Given the description of an element on the screen output the (x, y) to click on. 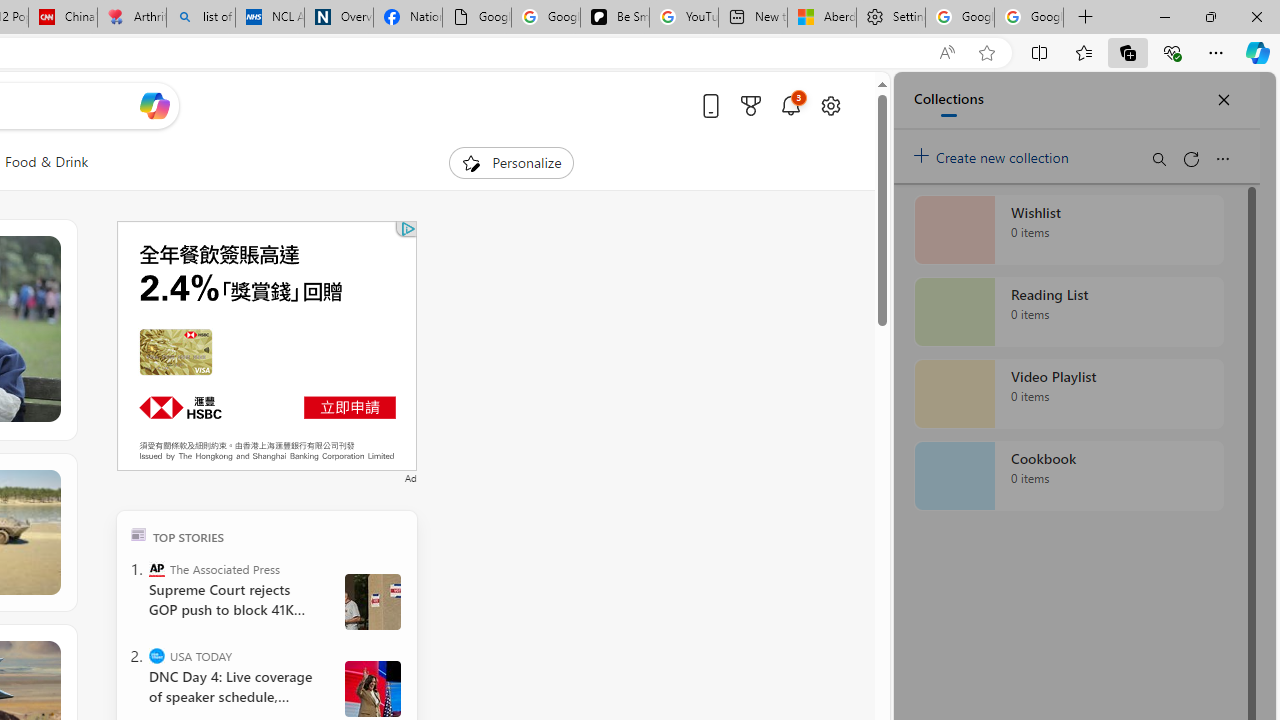
Arthritis: Ask Health Professionals (132, 17)
list of asthma inhalers uk - Search (200, 17)
Google Analytics Opt-out Browser Add-on Download Page (476, 17)
Aberdeen, Hong Kong SAR hourly forecast | Microsoft Weather (822, 17)
